Given the description of an element on the screen output the (x, y) to click on. 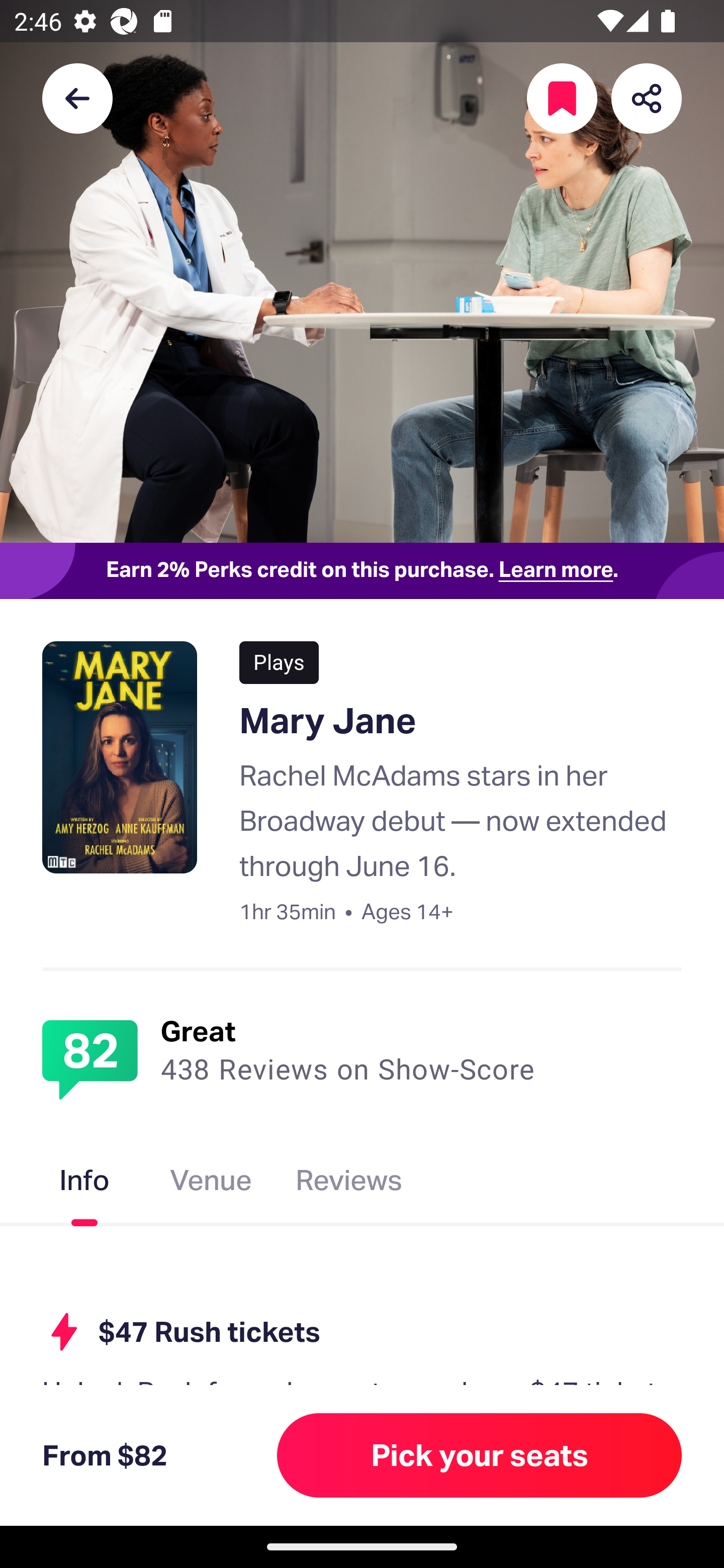
Earn 2% Perks credit on this purchase. Learn more. (362, 570)
Venue (210, 1183)
Reviews (348, 1183)
Pick your seats (479, 1454)
